Given the description of an element on the screen output the (x, y) to click on. 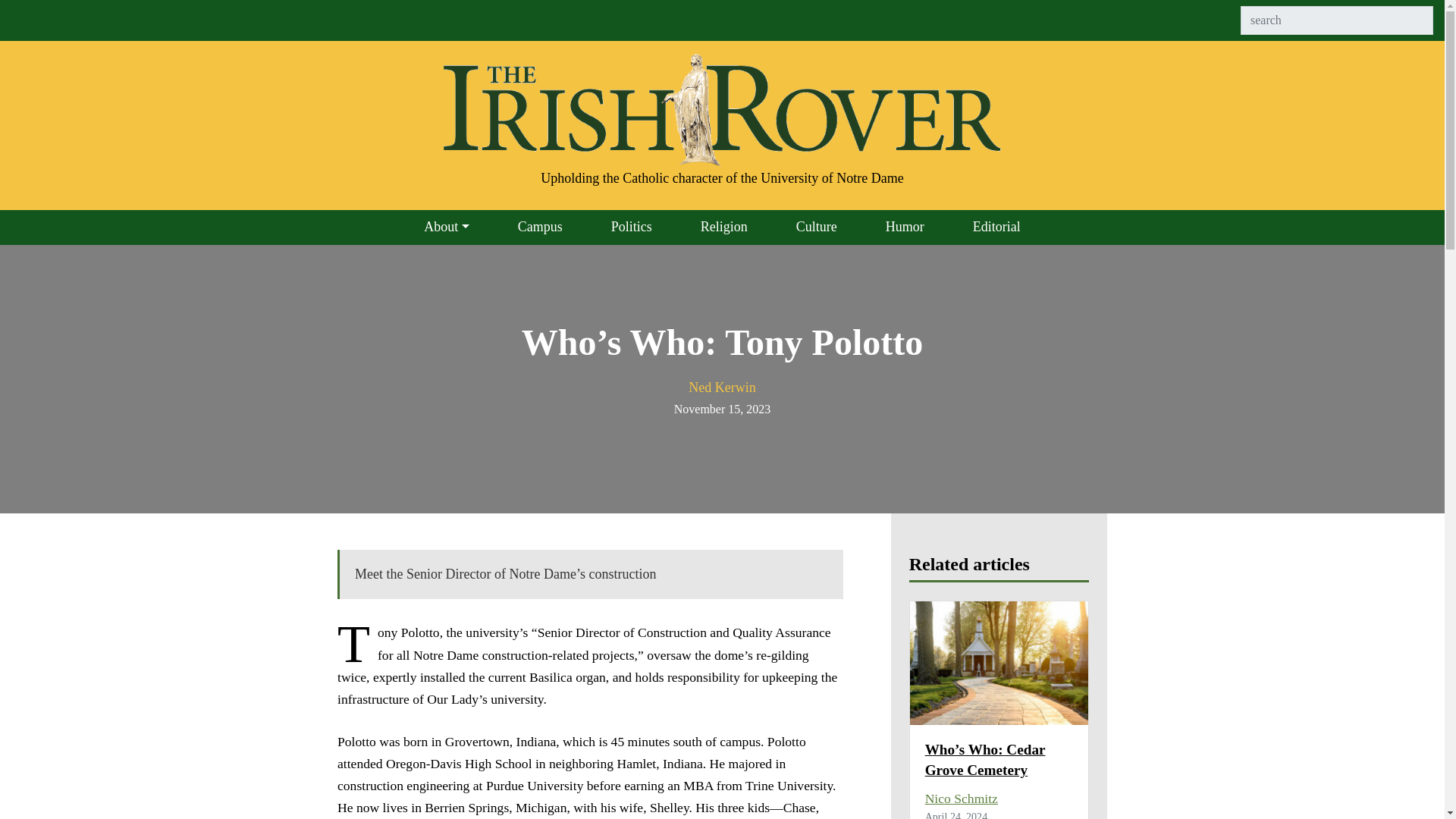
Culture (816, 226)
Politics (631, 226)
Ned Kerwin (721, 387)
Posts by Ned Kerwin (721, 387)
Posts by Nico Schmitz (960, 798)
Religion (724, 226)
Editorial (997, 226)
Nico Schmitz (960, 798)
About (445, 226)
Campus (539, 226)
Humor (905, 226)
